Given the description of an element on the screen output the (x, y) to click on. 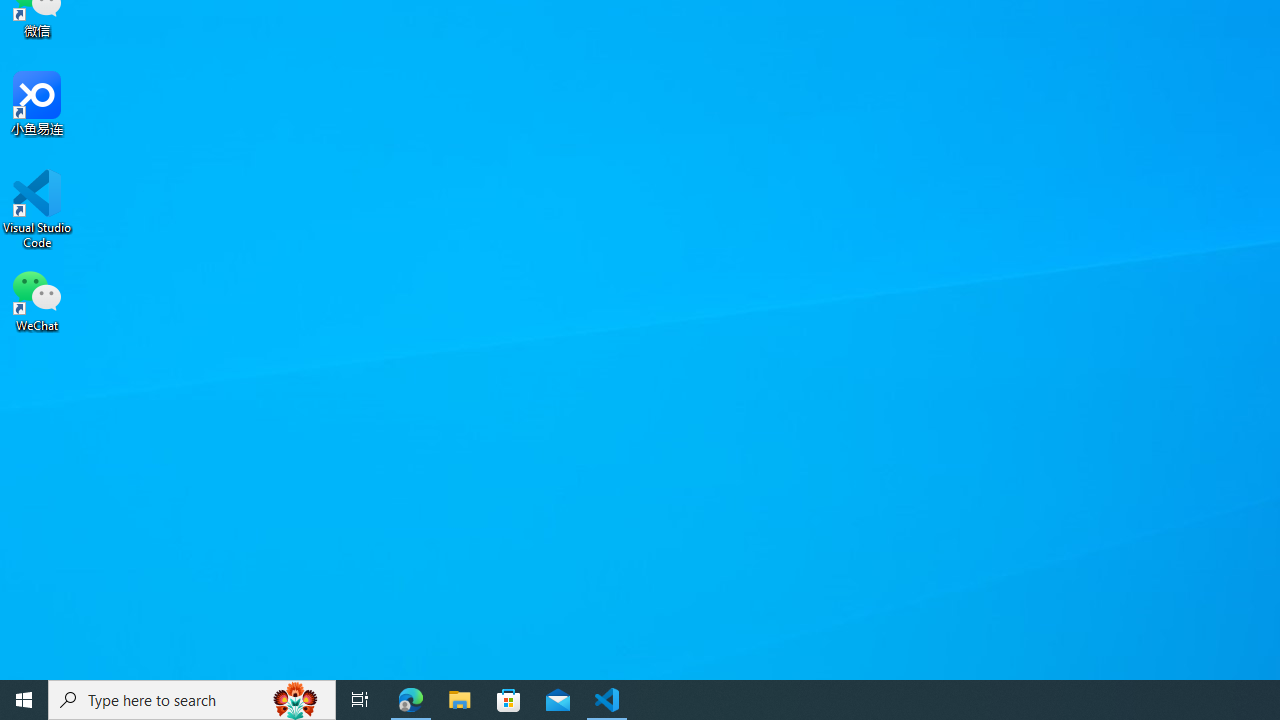
WeChat (37, 299)
Visual Studio Code (37, 209)
